Given the description of an element on the screen output the (x, y) to click on. 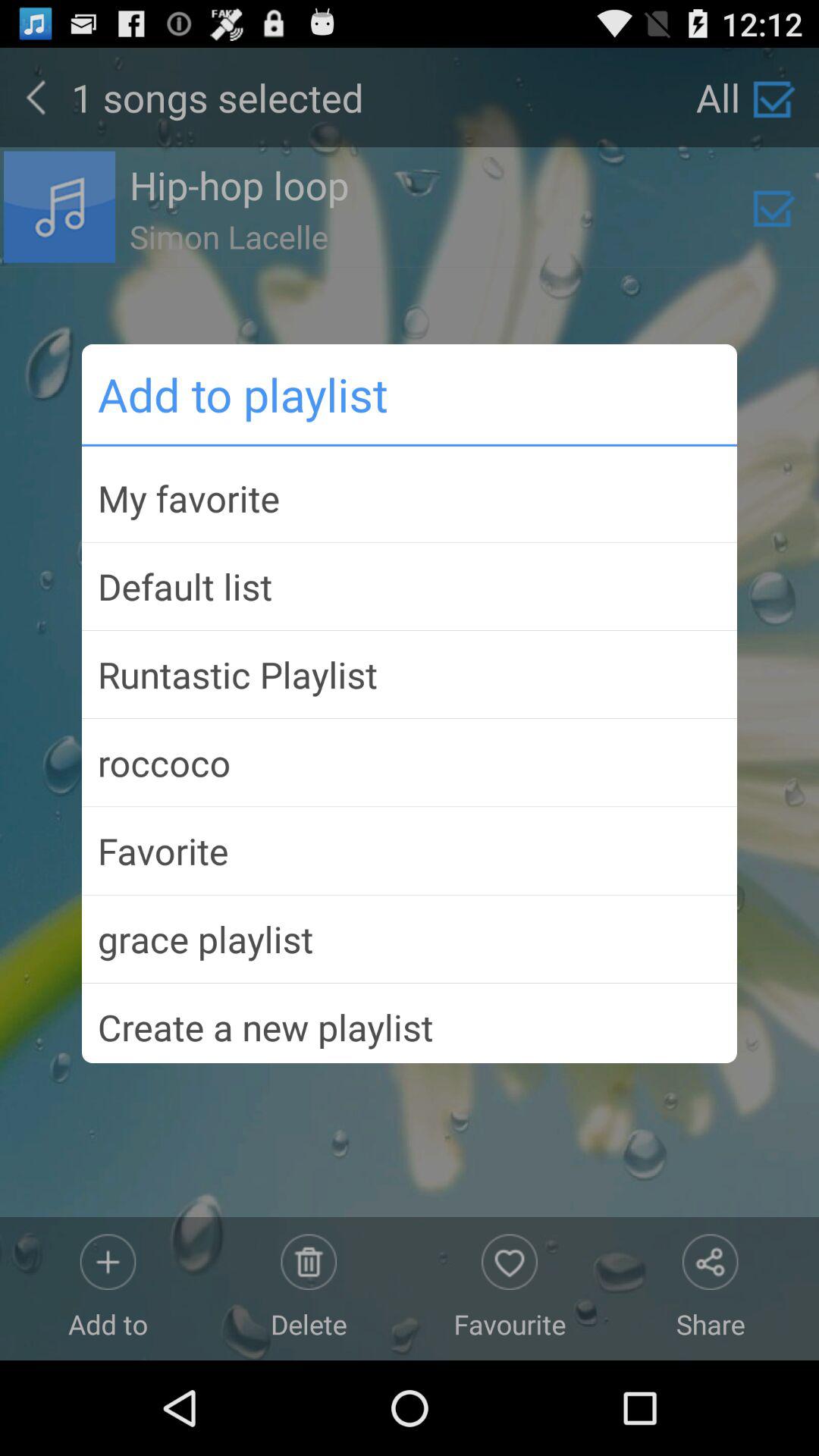
scroll to the create a new item (409, 1021)
